Given the description of an element on the screen output the (x, y) to click on. 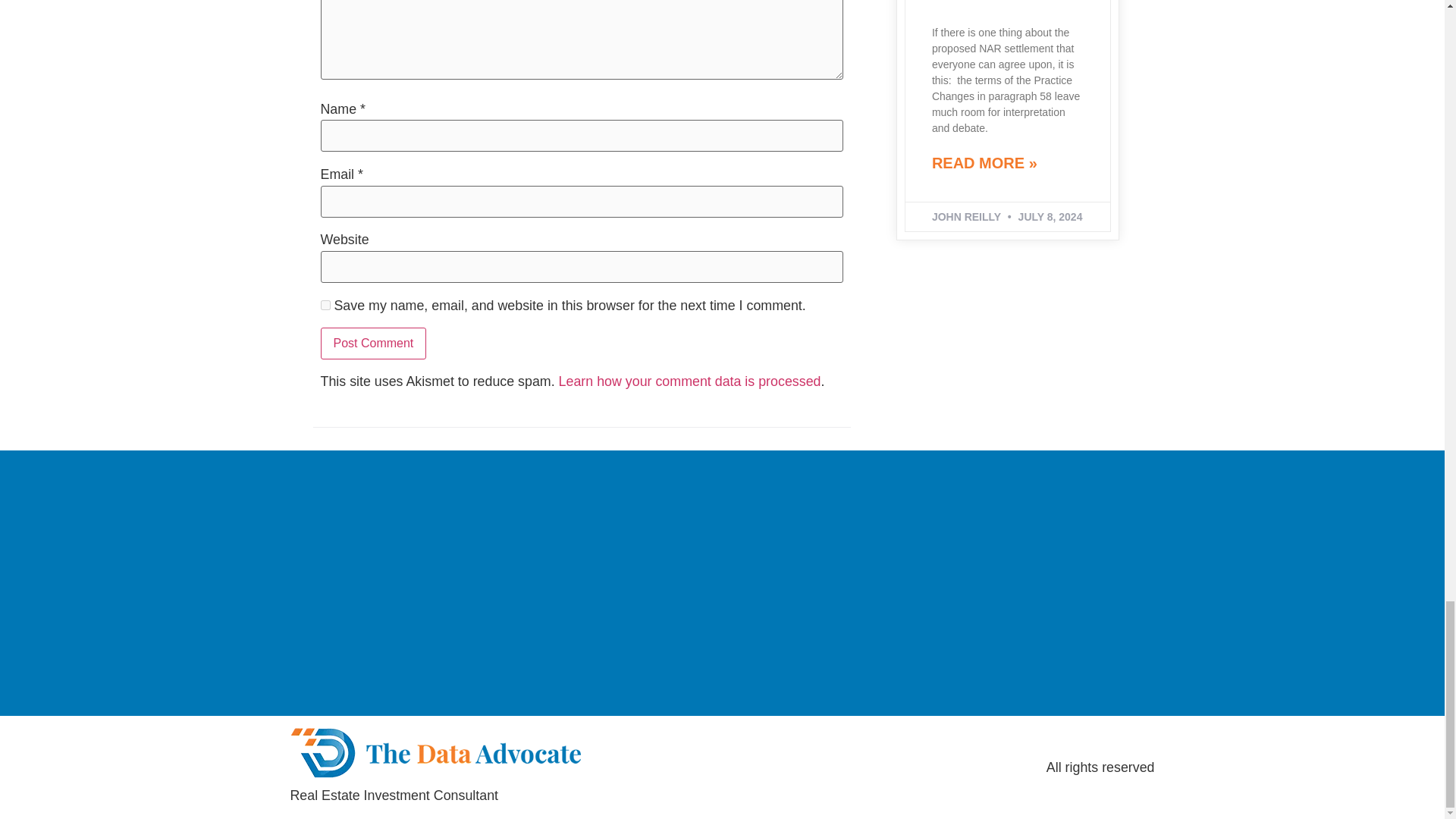
Post Comment (373, 343)
yes (325, 305)
